Given the description of an element on the screen output the (x, y) to click on. 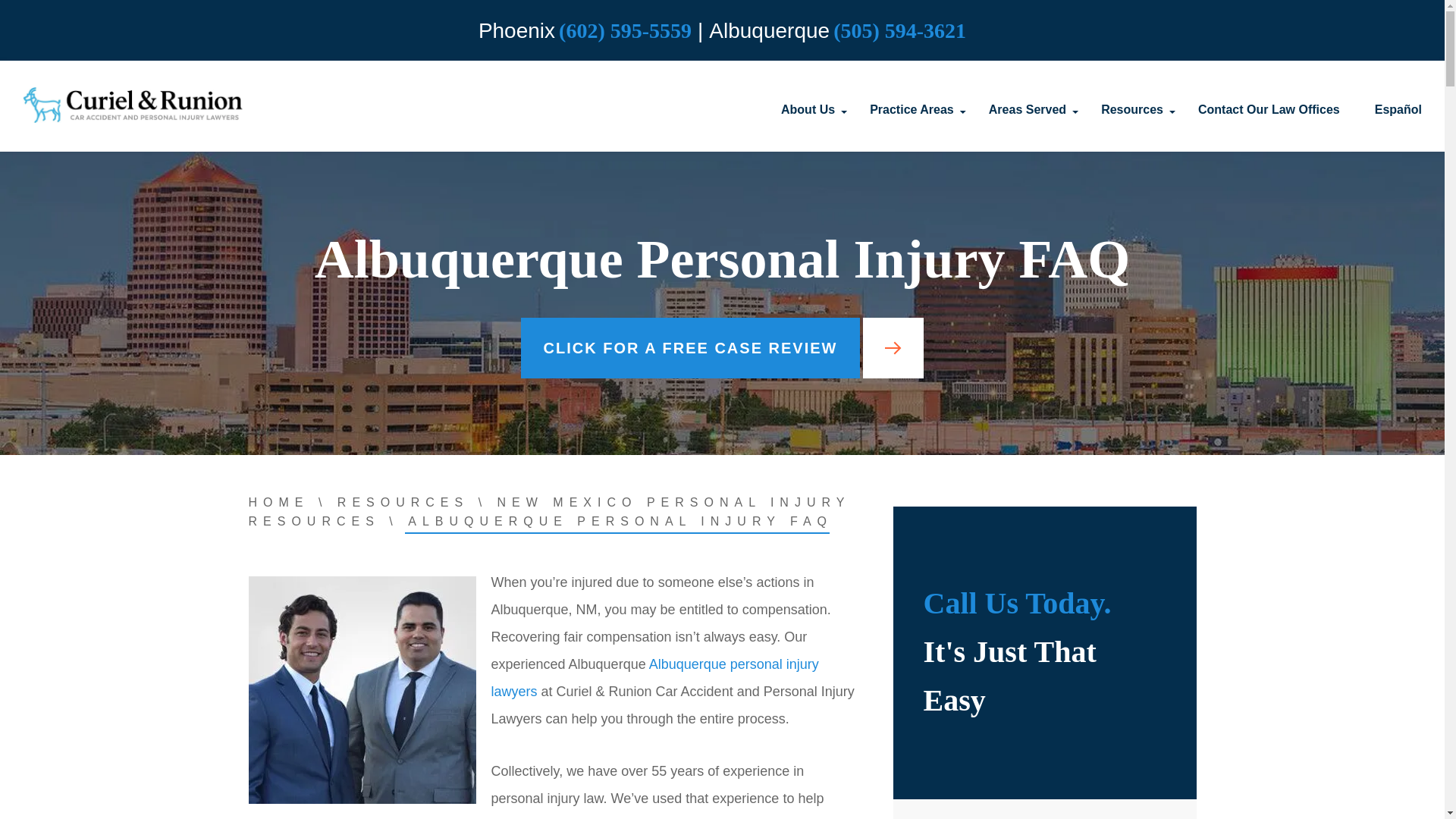
CLICK FOR A FREE CASE REVIEW (722, 346)
Albuquerque personal injury lawyers (655, 677)
Resources (1131, 105)
NEW MEXICO PERSONAL INJURY RESOURCES (549, 511)
HOME (278, 502)
About Us (807, 105)
RESOURCES (402, 502)
Contact Our Law Offices (1268, 105)
CLICK FOR A FREE CASE REVIEW (722, 346)
Areas Served (1026, 105)
Practice Areas (911, 105)
